Given the description of an element on the screen output the (x, y) to click on. 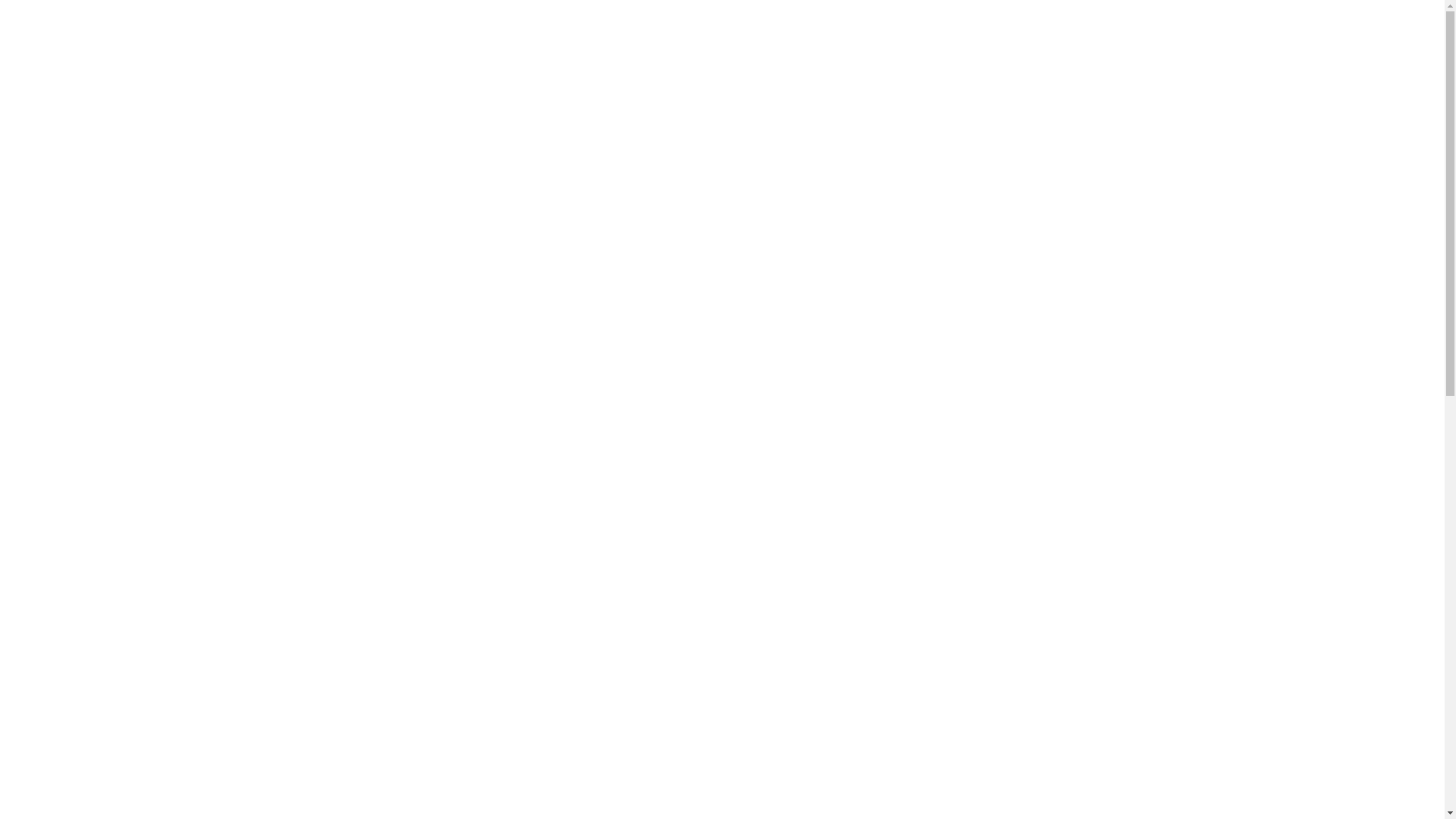
Contact Element type: text (1233, 37)
Innovators Element type: text (1074, 37)
Blog Element type: text (999, 37)
Home Element type: text (715, 37)
Offer Element type: text (941, 37)
EN Element type: text (1297, 35)
Case studies Element type: text (859, 37)
Team Element type: text (778, 37)
